Given the description of an element on the screen output the (x, y) to click on. 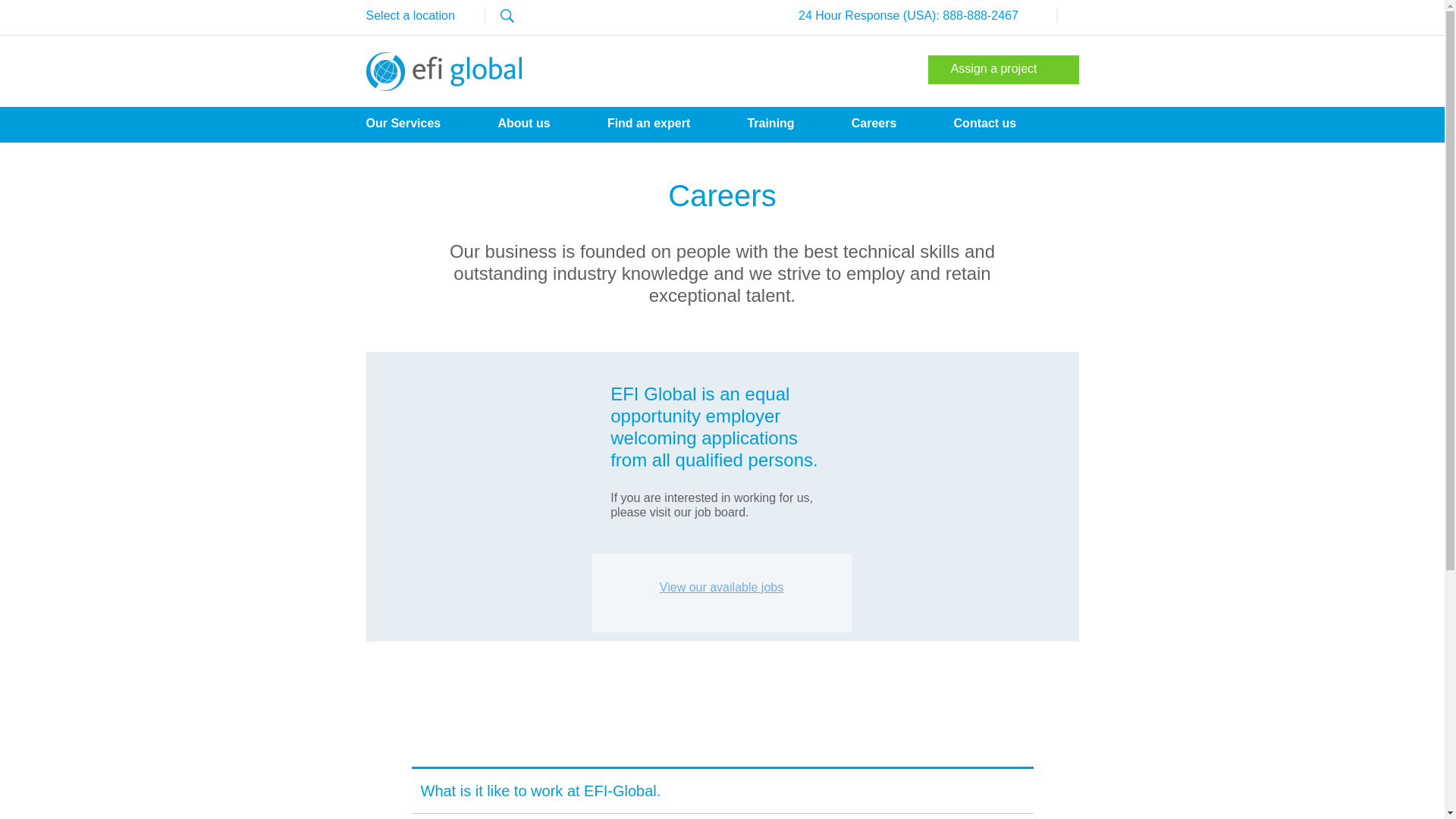
Assign a project (1003, 69)
